Given the description of an element on the screen output the (x, y) to click on. 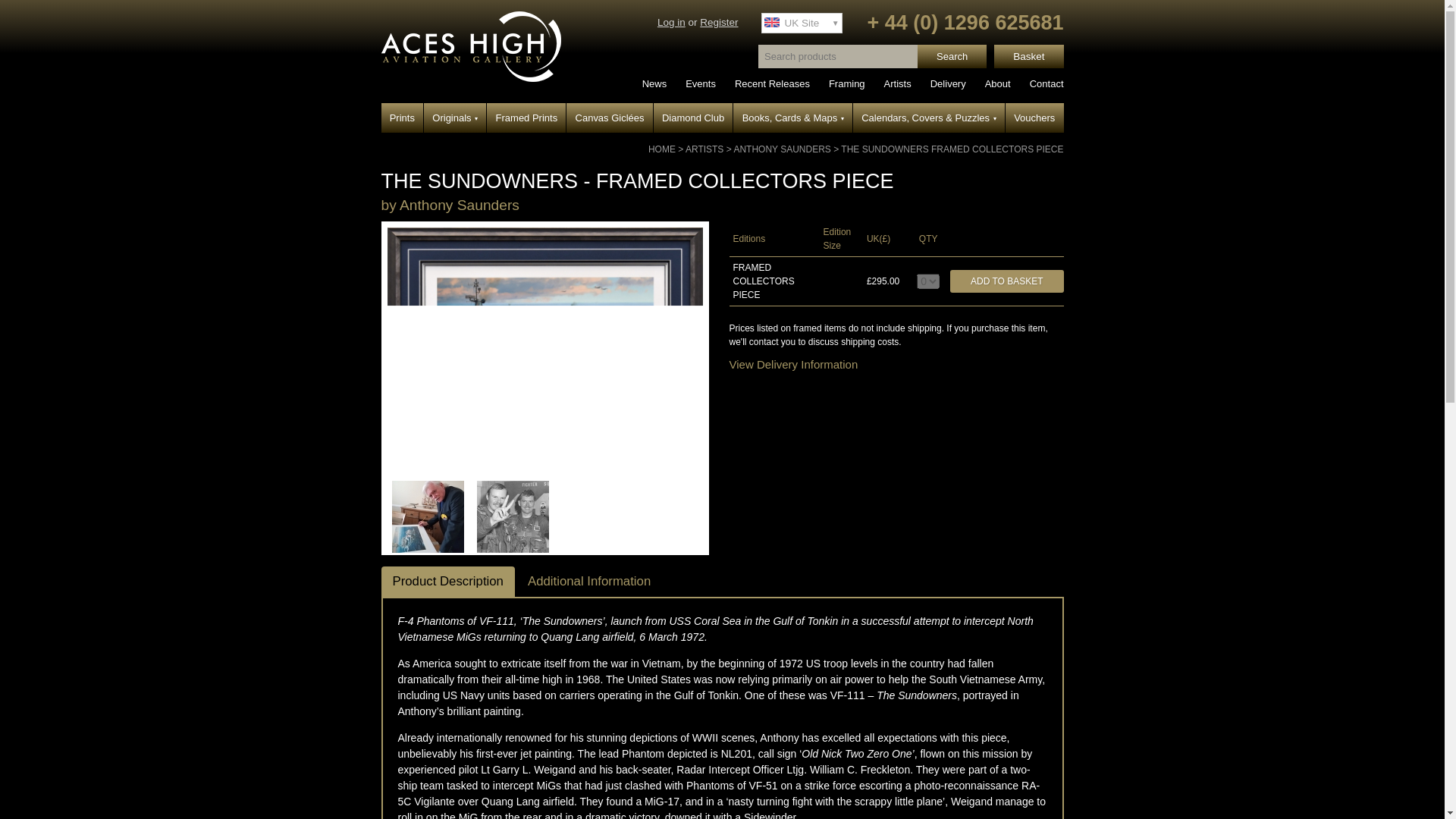
Prints (401, 117)
HOME (661, 149)
Recent Releases (772, 83)
Search (952, 56)
Framing (846, 83)
Framed Prints (526, 117)
Prints (401, 117)
Contact (1046, 83)
About (997, 83)
ARTISTS (704, 149)
Add to Basket (1006, 281)
Contact (1046, 83)
Delivery (948, 83)
Diamond Club (693, 117)
Log in (671, 21)
